Given the description of an element on the screen output the (x, y) to click on. 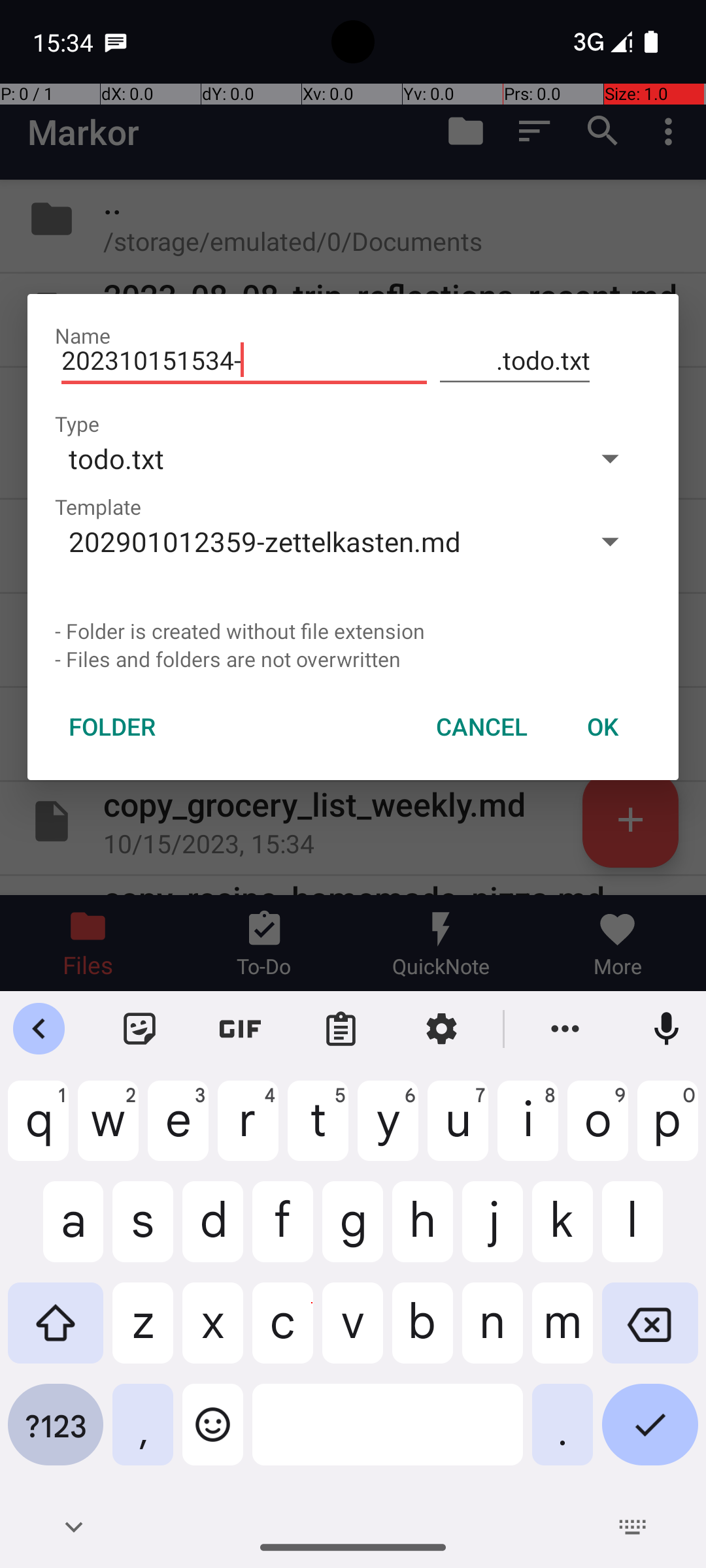
202310151534- Element type: android.widget.EditText (243, 360)
.todo.txt Element type: android.widget.EditText (514, 360)
202901012359-zettelkasten.md Element type: android.widget.TextView (311, 540)
